Given the description of an element on the screen output the (x, y) to click on. 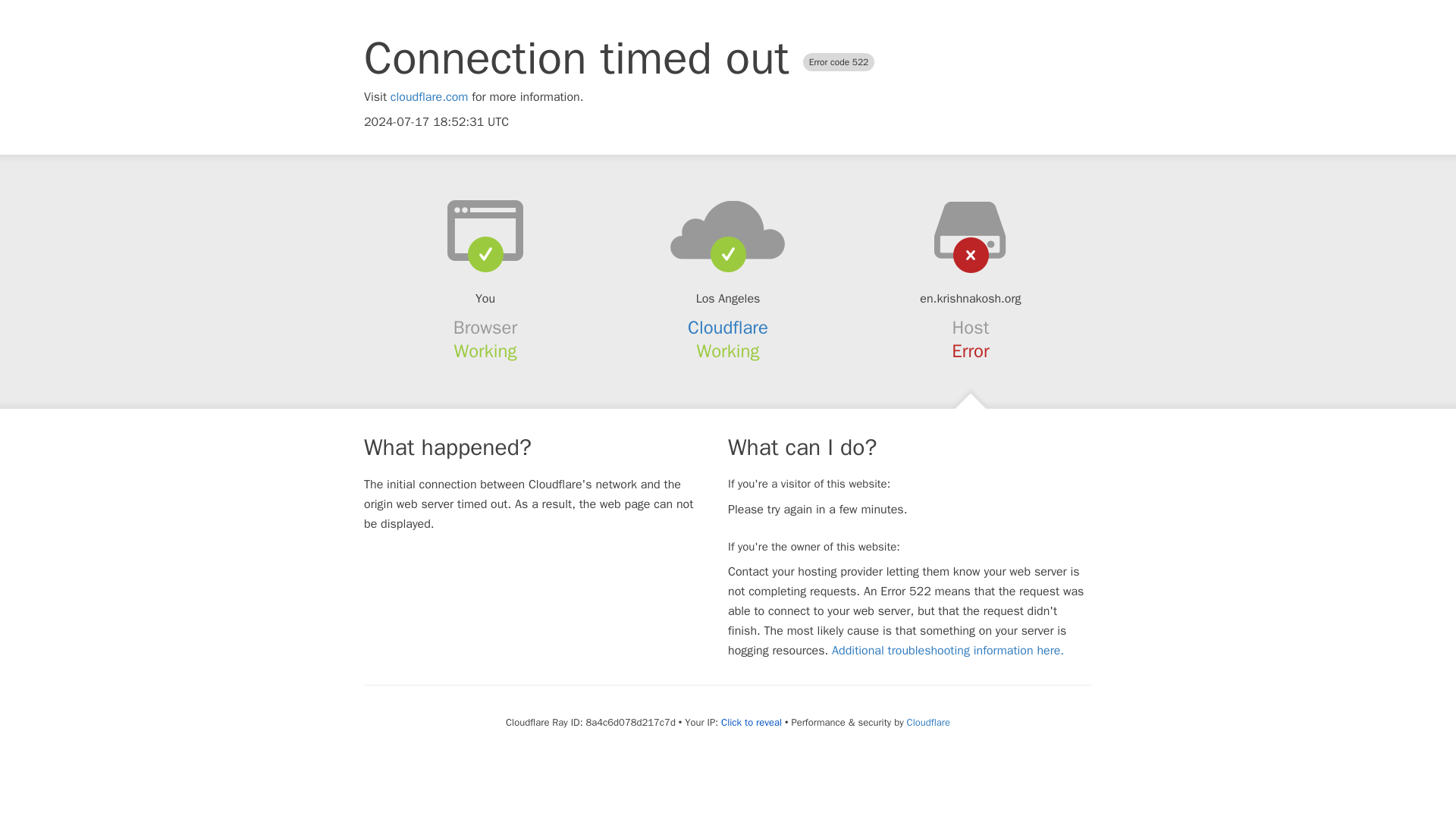
cloudflare.com (429, 96)
Cloudflare (727, 327)
Cloudflare (928, 721)
Additional troubleshooting information here. (947, 650)
Click to reveal (750, 722)
